Given the description of an element on the screen output the (x, y) to click on. 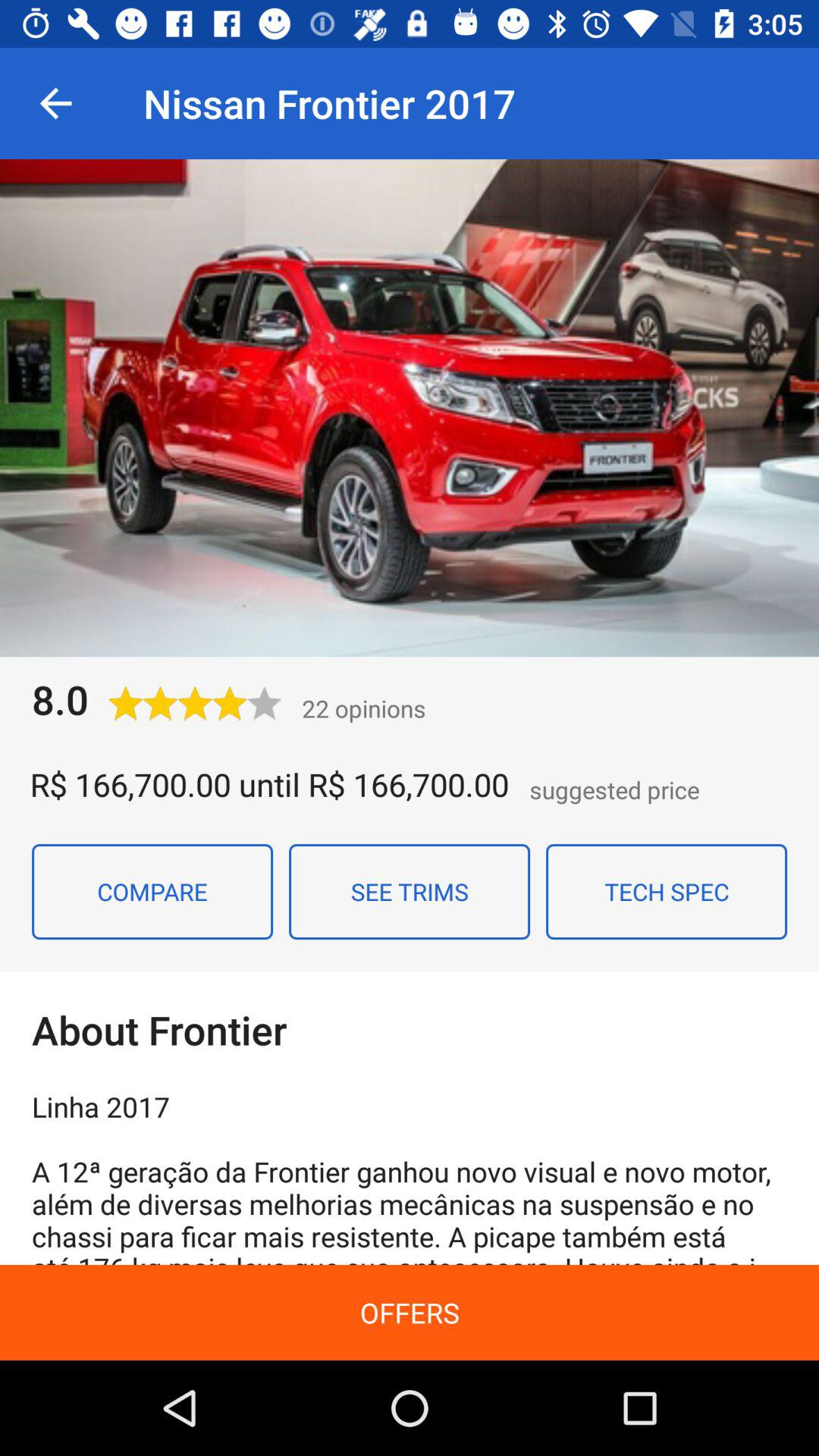
tap the item next to the see trims (152, 891)
